Given the description of an element on the screen output the (x, y) to click on. 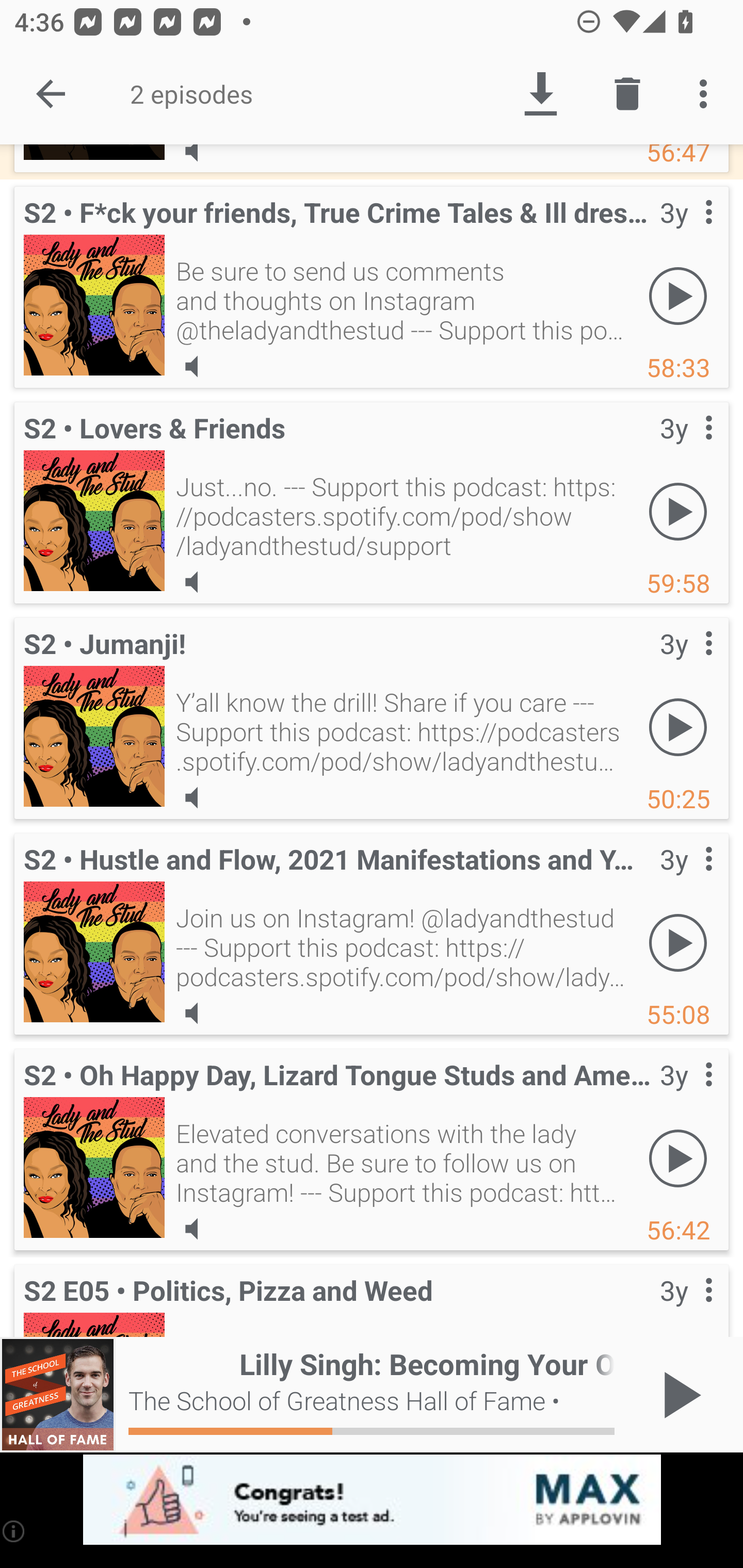
Done (50, 93)
Download (540, 93)
Delete episode (626, 93)
More options (706, 93)
Contextual menu (685, 232)
Play (677, 296)
Contextual menu (685, 448)
Lovers & Friends (93, 520)
Play (677, 511)
Contextual menu (685, 663)
Jumanji! (93, 735)
Play (677, 727)
Contextual menu (685, 879)
Play (677, 943)
Contextual menu (685, 1095)
Play (677, 1158)
Contextual menu (685, 1302)
Play / Pause (677, 1394)
app-monetization (371, 1500)
(i) (14, 1531)
